Given the description of an element on the screen output the (x, y) to click on. 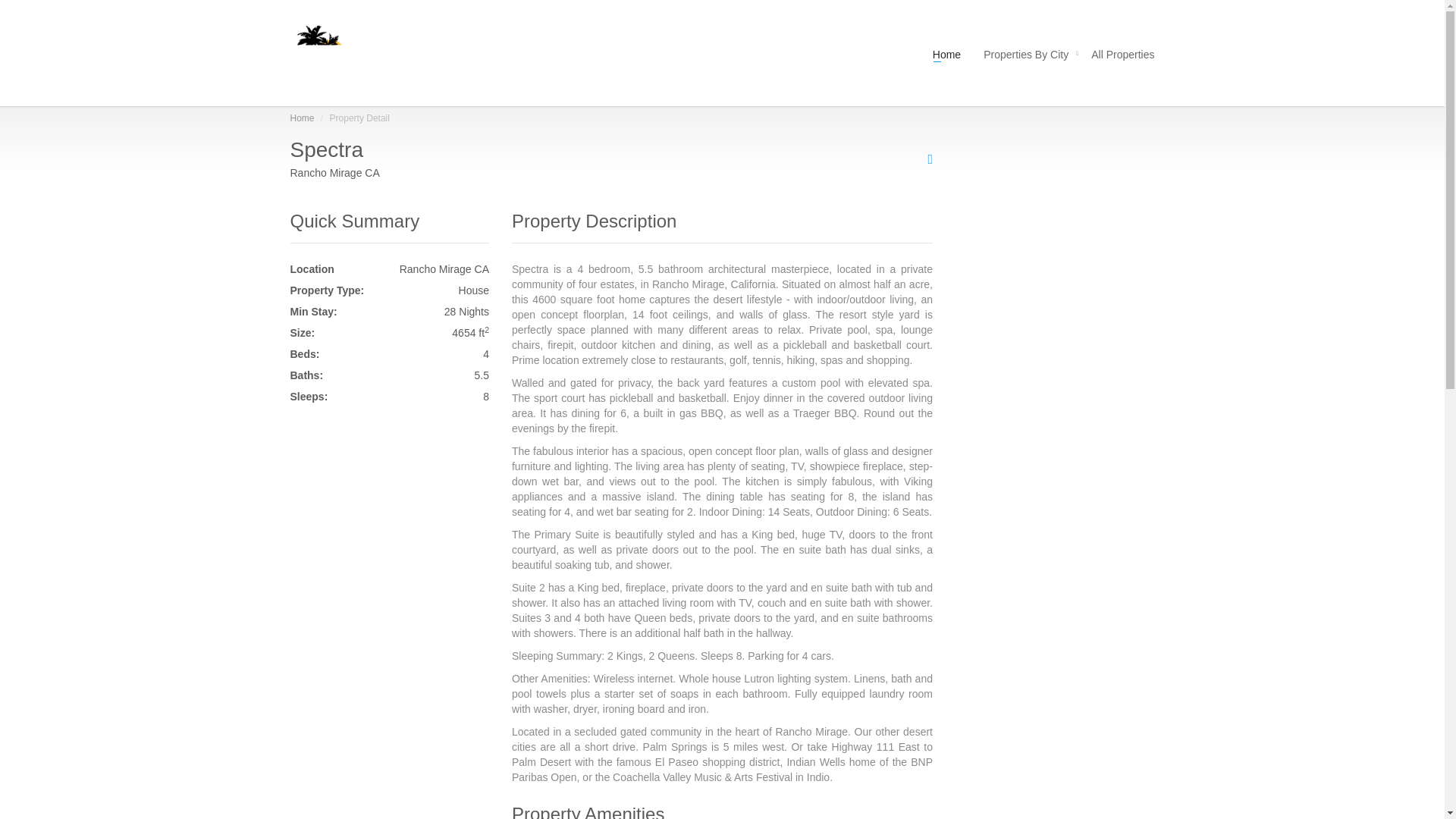
All Properties (1117, 52)
Home (301, 118)
Properties By City (1026, 52)
Home (946, 52)
